Given the description of an element on the screen output the (x, y) to click on. 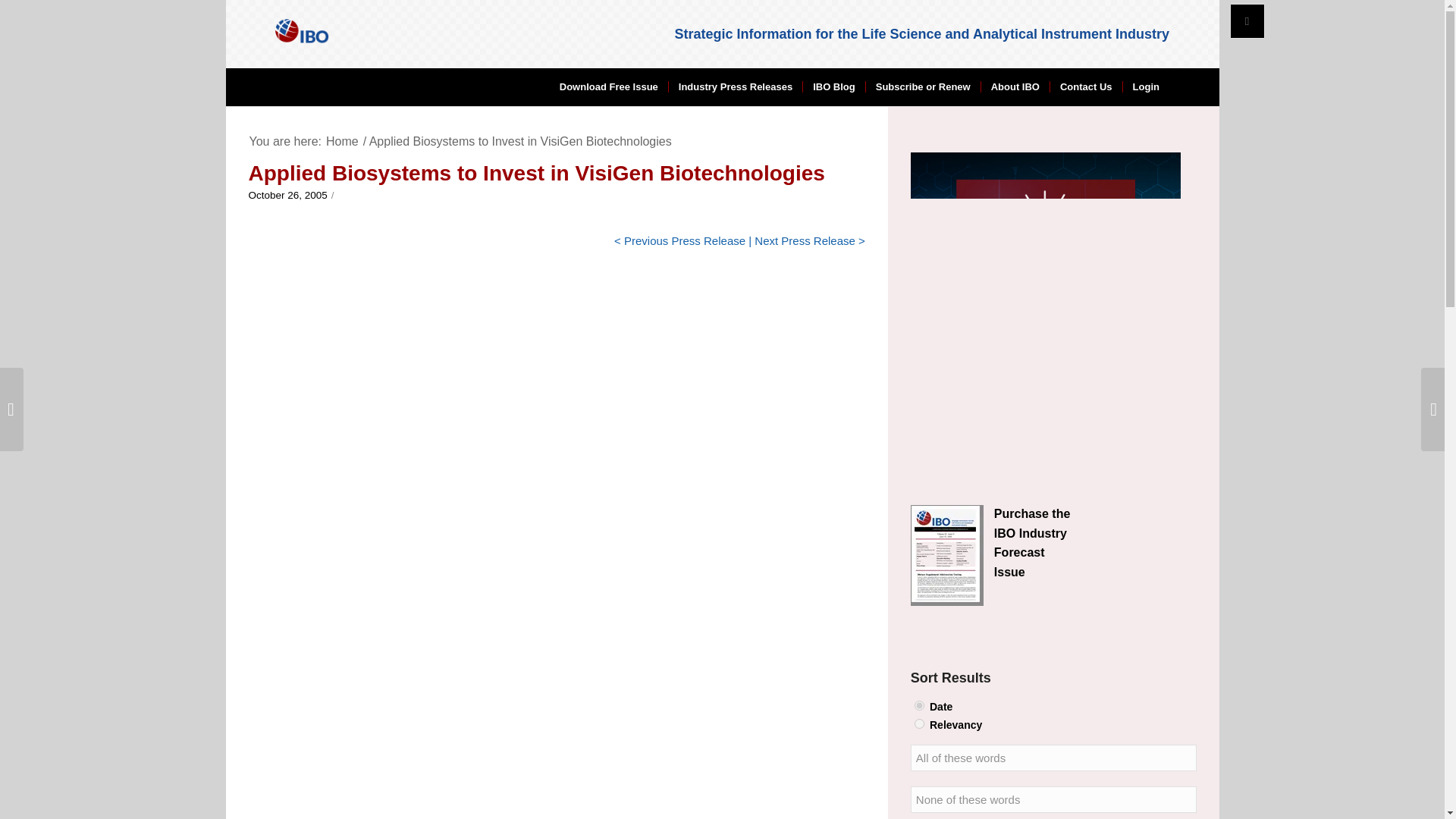
Previous Press Release (684, 240)
date (919, 705)
IBO (342, 141)
IBO Blog (833, 86)
Subscribe or Renew (921, 86)
relevancy (919, 723)
relevancy (919, 723)
Next Press Release (805, 240)
Download Free Issue (609, 86)
date (919, 705)
